Given the description of an element on the screen output the (x, y) to click on. 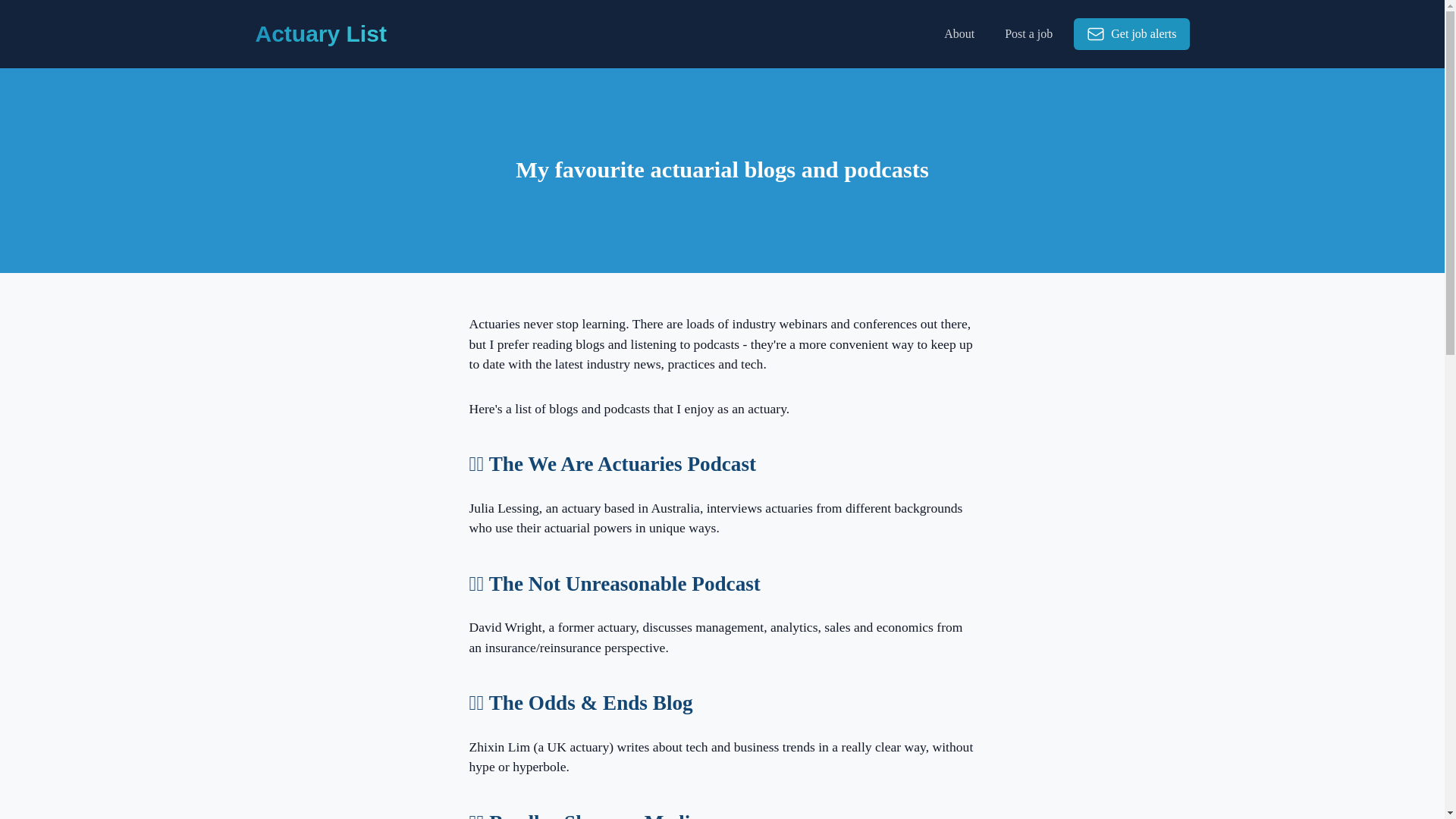
About (959, 33)
Actuary List (319, 33)
Get job alerts (1131, 33)
Post a job (1028, 33)
Get job alerts (1125, 33)
